Given the description of an element on the screen output the (x, y) to click on. 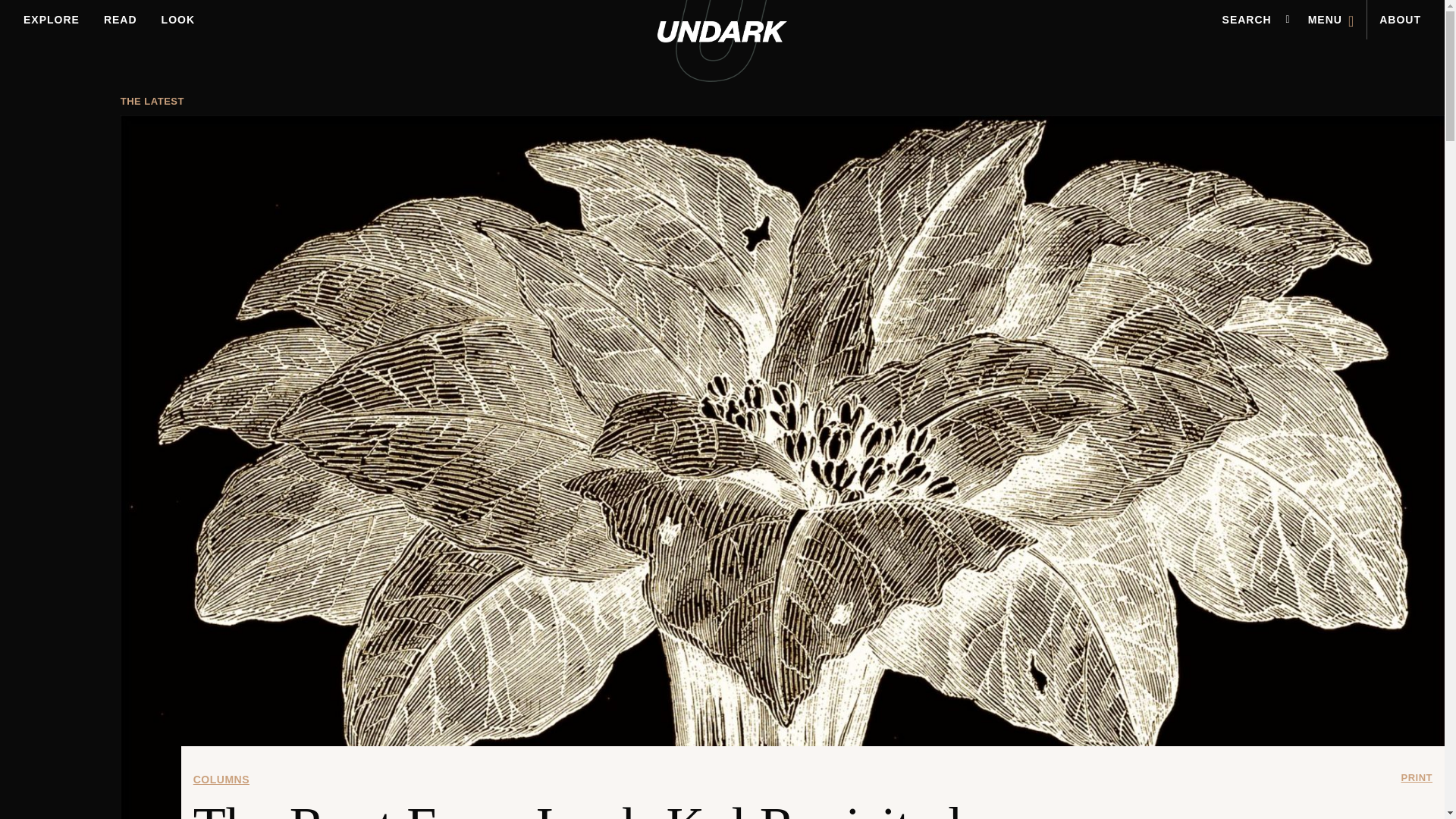
EXPLORE (51, 19)
ABOUT (1399, 19)
SEARCH (1247, 19)
LOOK (177, 19)
READ (120, 19)
MENU (1331, 19)
